Given the description of an element on the screen output the (x, y) to click on. 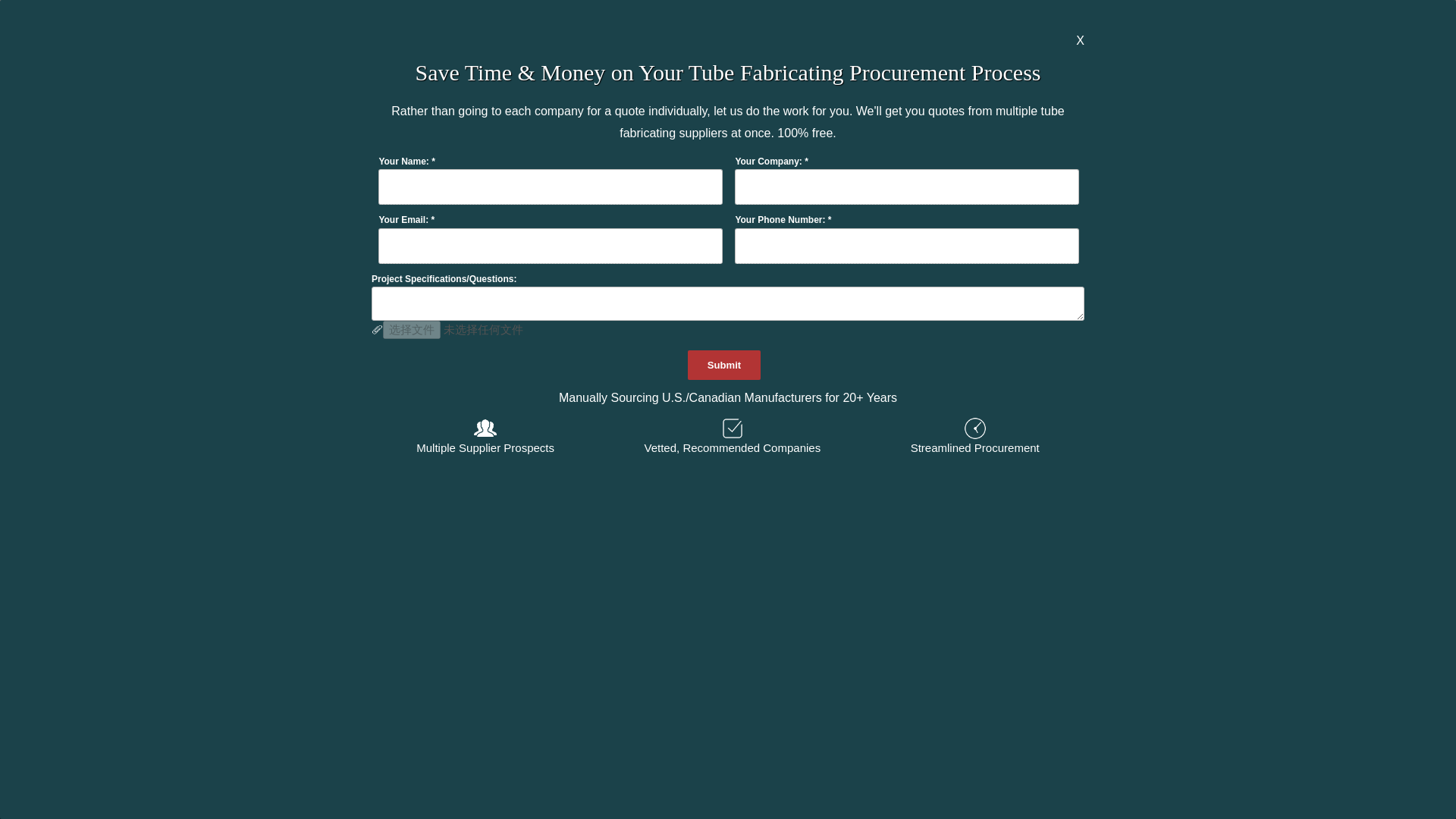
Tube Bending (142, 21)
Tube Fabricating Machinery (1165, 128)
Metal Channel (636, 21)
Metal Fabrication (1136, 21)
Roll Forming (139, 128)
Steel Service Centers (655, 128)
